Given the description of an element on the screen output the (x, y) to click on. 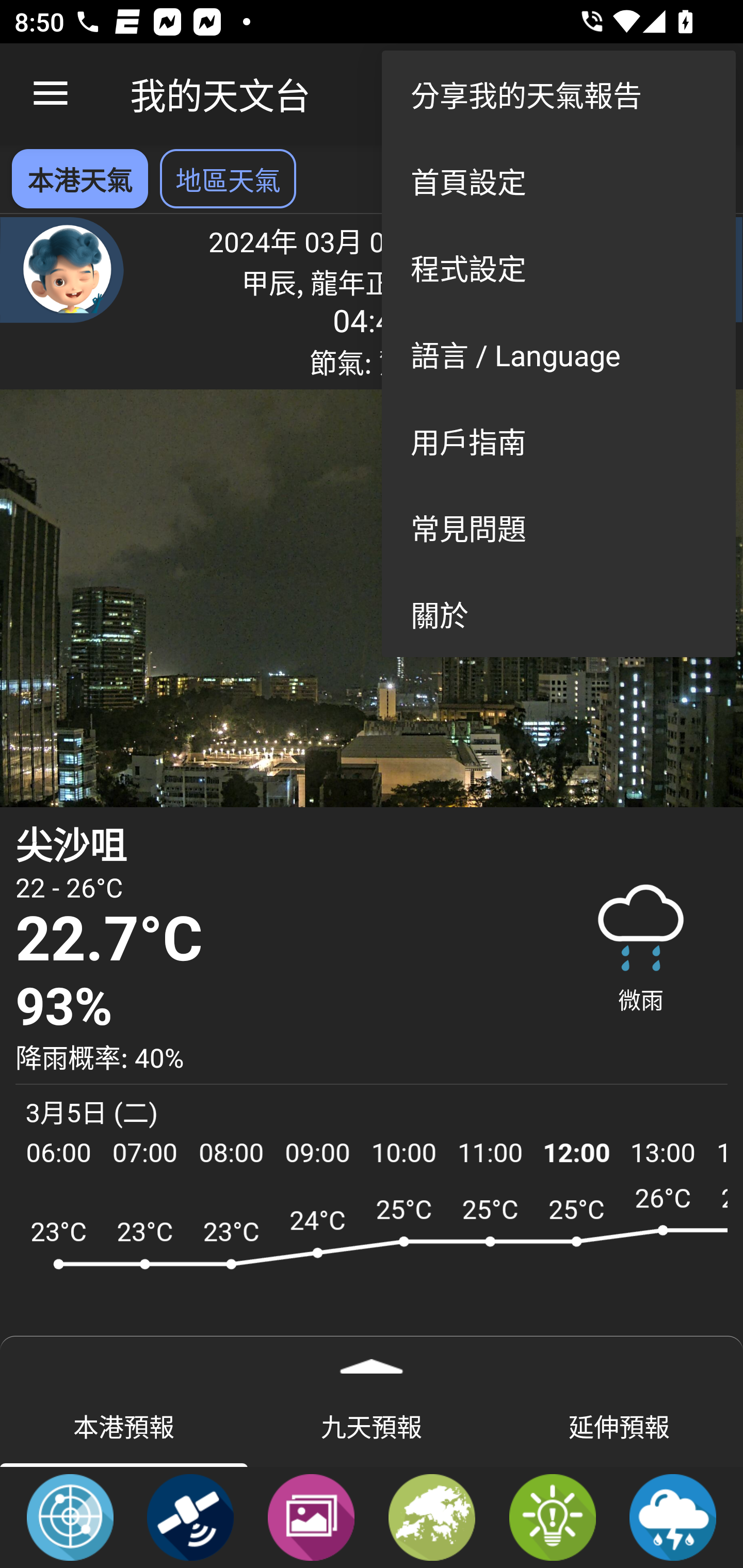
分享我的天氣報告 (558, 93)
首頁設定 (558, 180)
程式設定 (558, 267)
語言 / Language (558, 353)
用戶指南 (558, 440)
常見問題 (558, 527)
關於 (558, 613)
